Given the description of an element on the screen output the (x, y) to click on. 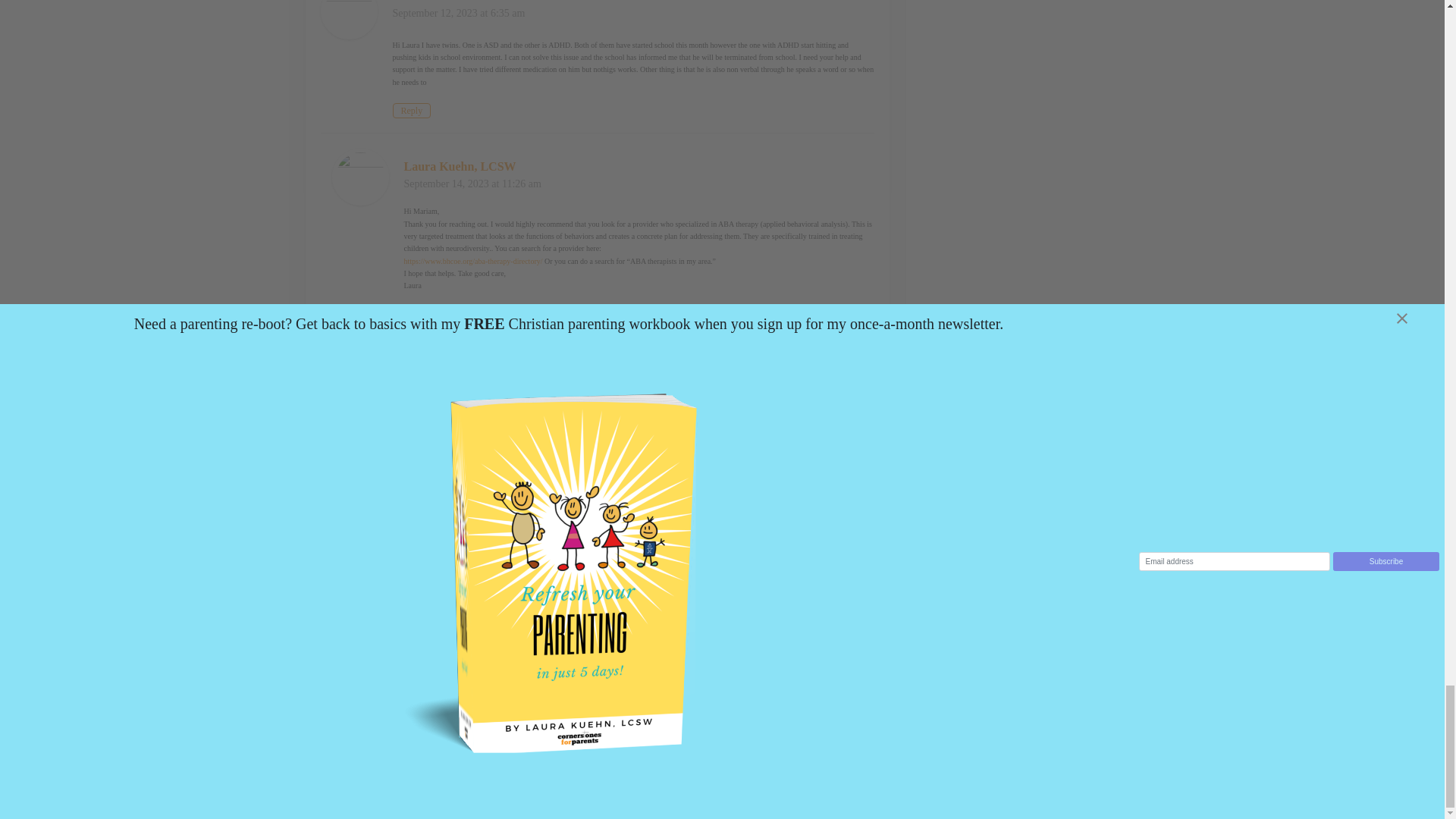
Post Comment (357, 656)
